Given the description of an element on the screen output the (x, y) to click on. 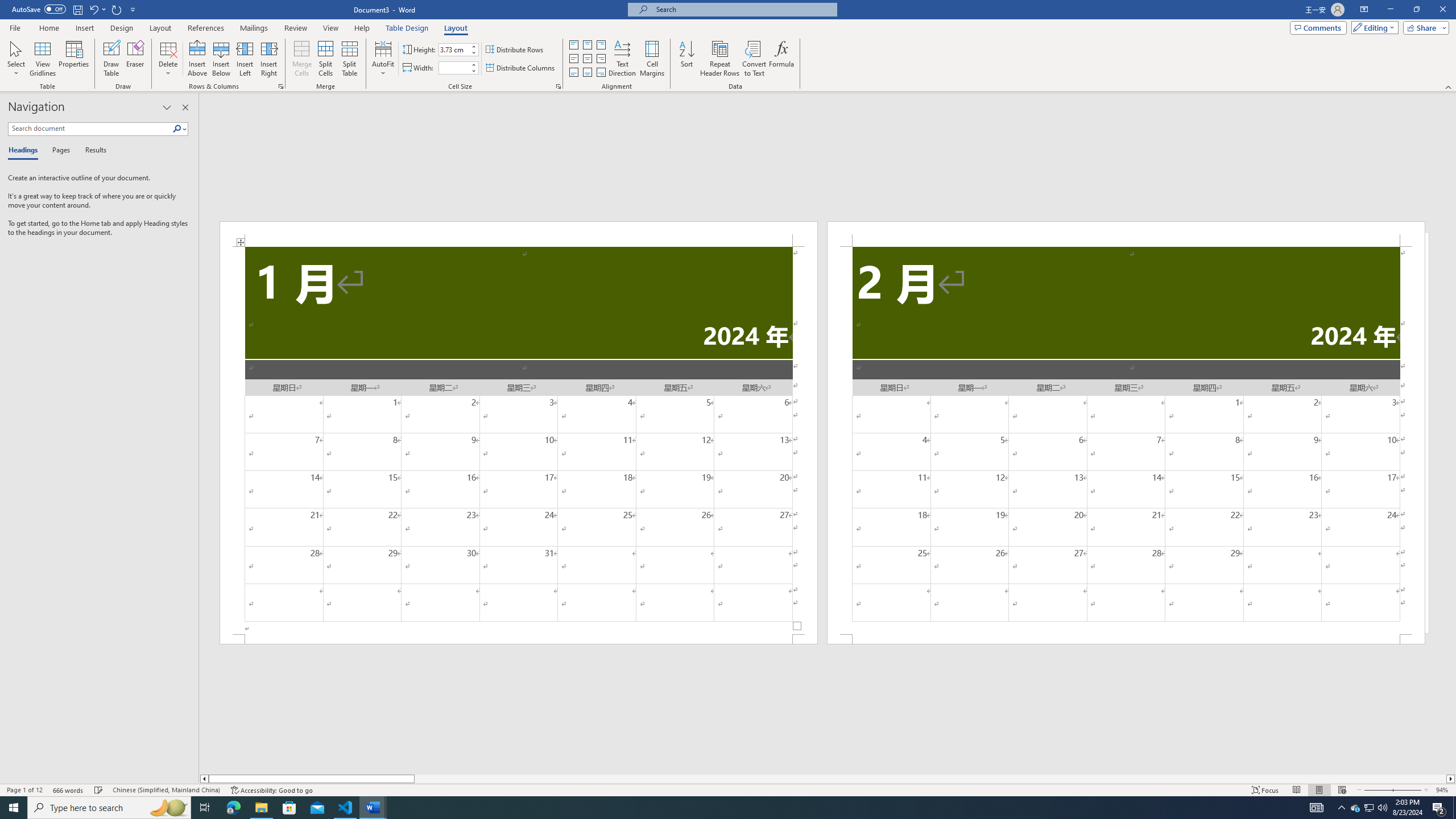
Page 1 content (518, 439)
Align Center Justified (573, 58)
Table Column Width (453, 67)
Less (473, 70)
Header -Section 2- (1126, 233)
Word Count 666 words (68, 790)
Align Top Center (587, 44)
View Gridlines (42, 58)
Convert to Text... (754, 58)
Page right (929, 778)
